Given the description of an element on the screen output the (x, y) to click on. 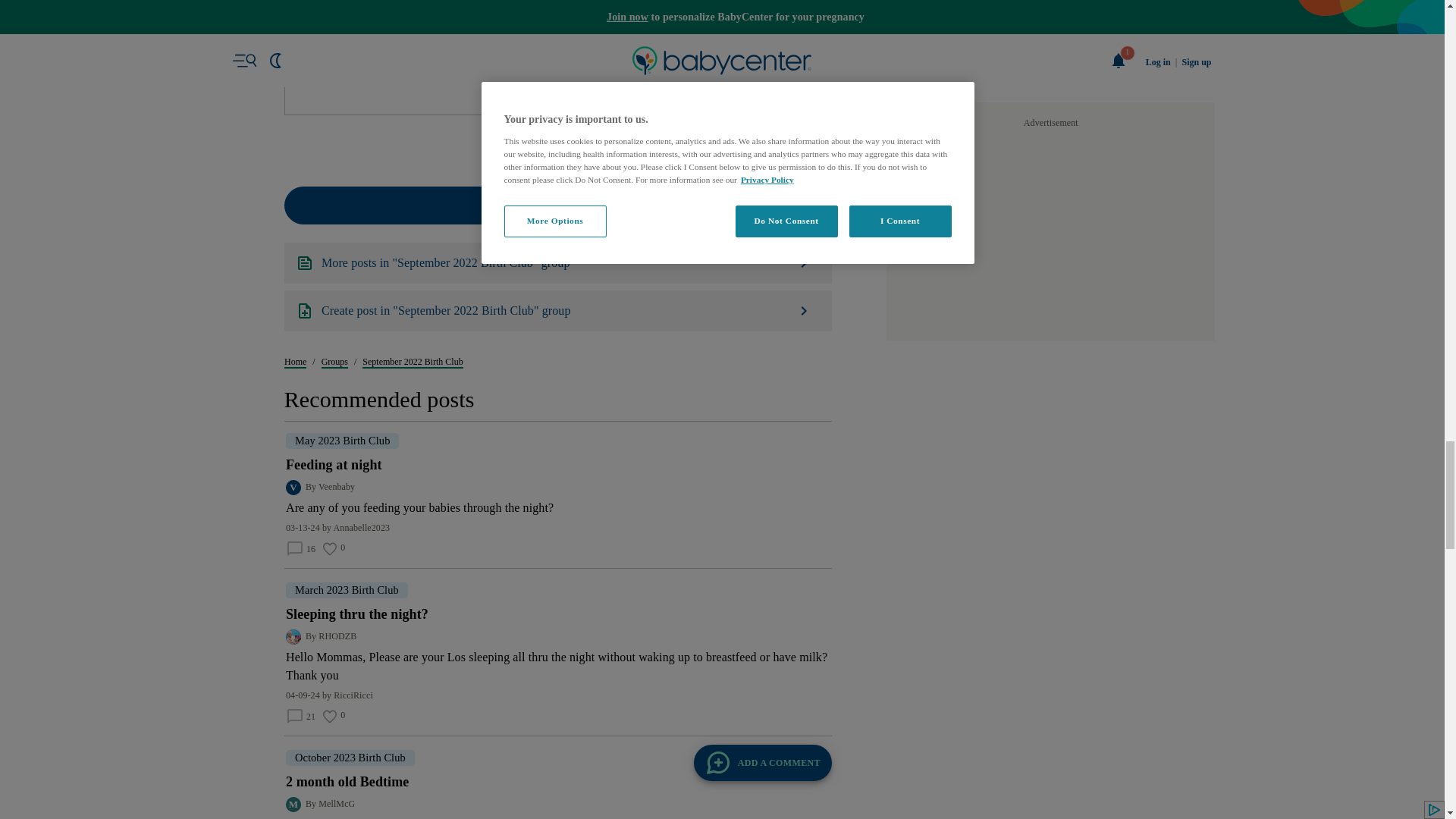
Go to page number (541, 721)
1 (541, 721)
